Given the description of an element on the screen output the (x, y) to click on. 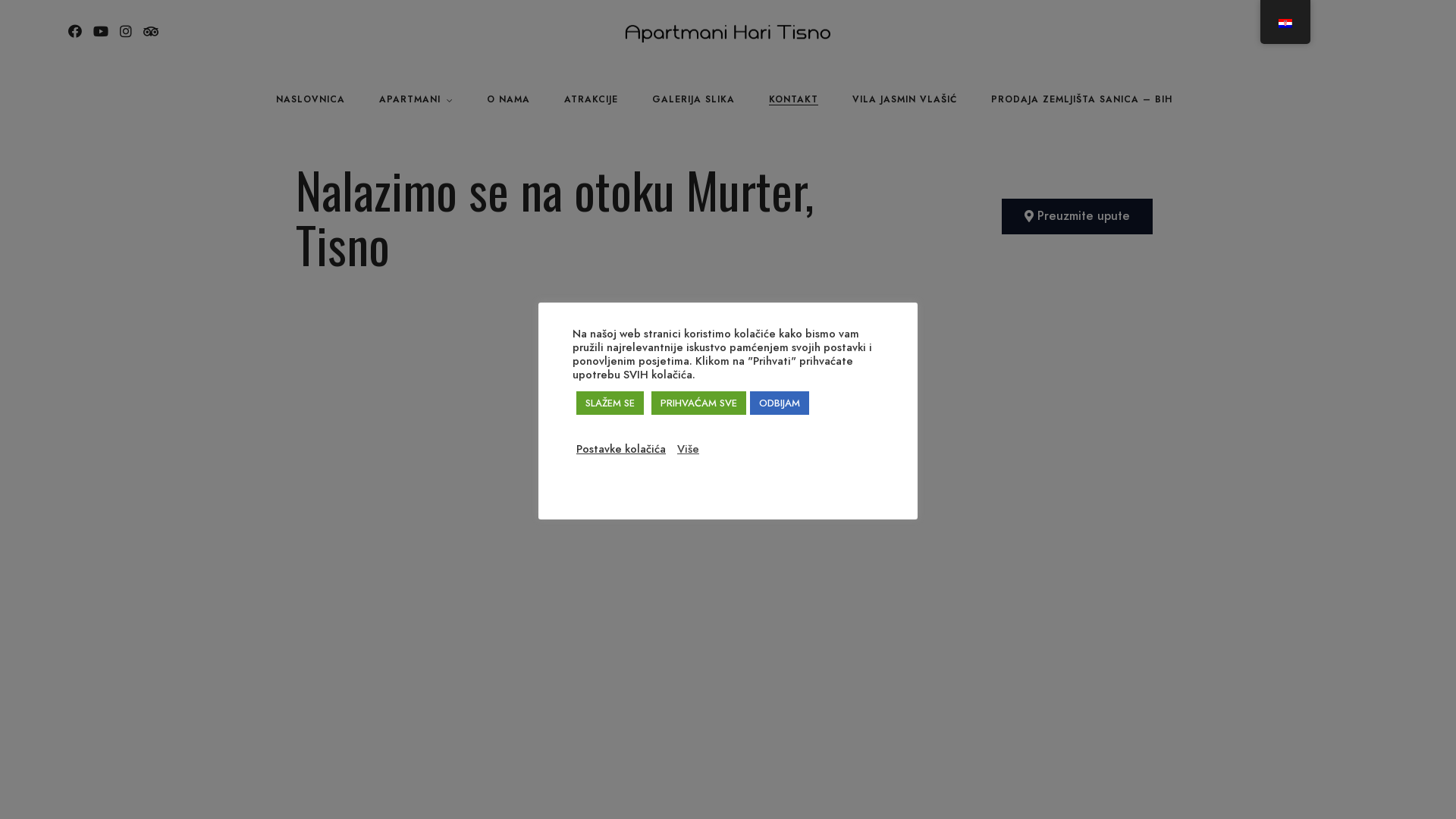
Tripadvisor Element type: hover (150, 32)
Preuzmite upute Element type: text (1076, 216)
O NAMA Element type: text (508, 99)
Youtube Element type: hover (100, 32)
ODBIJAM Element type: text (779, 402)
KONTAKT Element type: text (793, 99)
APARTMANI Element type: text (415, 100)
GALERIJA SLIKA Element type: text (693, 99)
ATRAKCIJE Element type: text (591, 99)
Croatian Element type: hover (1285, 23)
NASLOVNICA Element type: text (310, 99)
Instagram Element type: hover (125, 32)
